Given the description of an element on the screen output the (x, y) to click on. 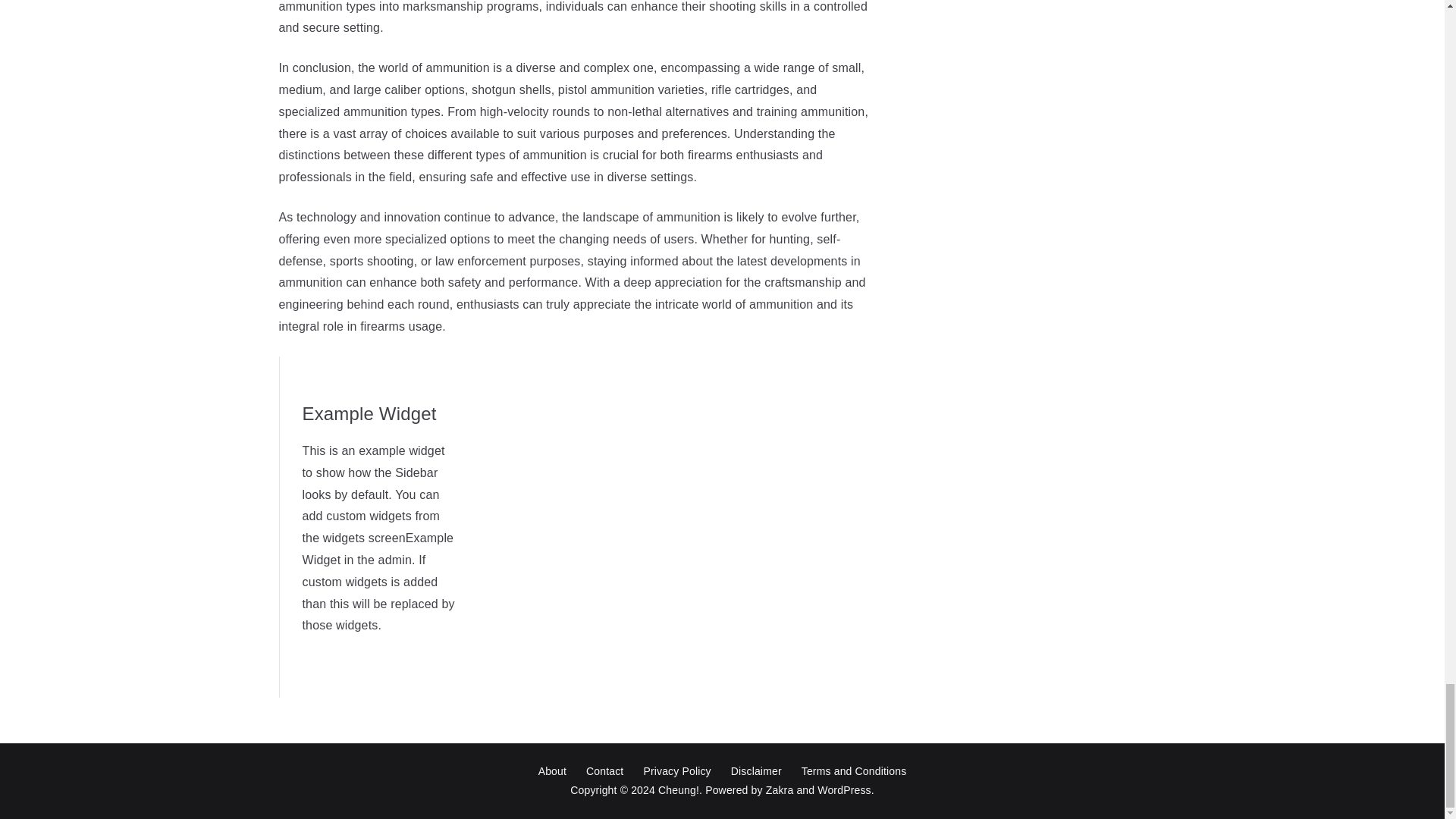
Cheung! (678, 789)
Cheung! (678, 789)
Privacy Policy (676, 771)
Zakra (779, 789)
Zakra (779, 789)
Disclaimer (756, 771)
About (552, 771)
WordPress (843, 789)
Contact (604, 771)
Terms and Conditions (854, 771)
